Given the description of an element on the screen output the (x, y) to click on. 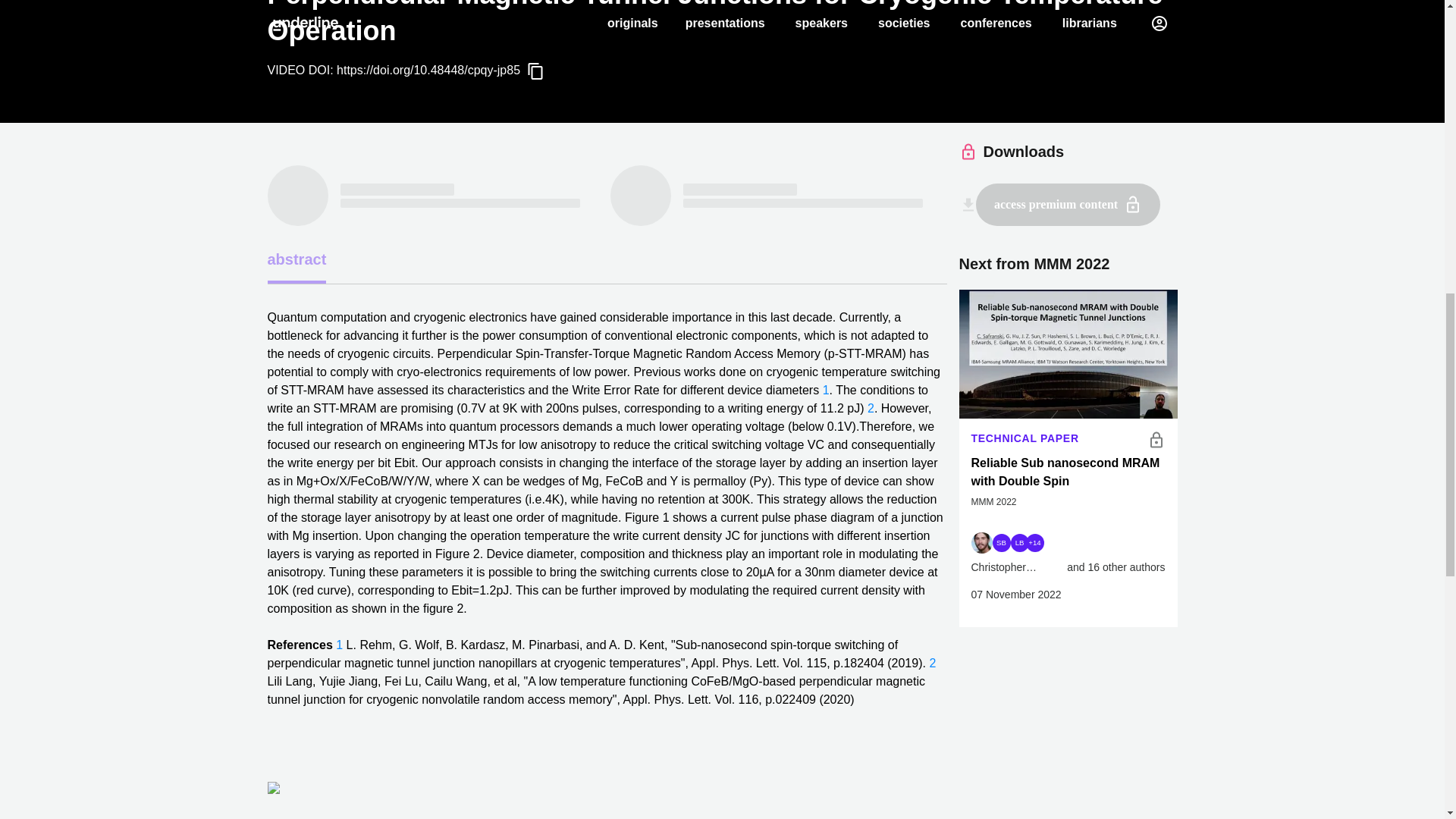
abstract (296, 260)
access premium content (1067, 204)
